Given the description of an element on the screen output the (x, y) to click on. 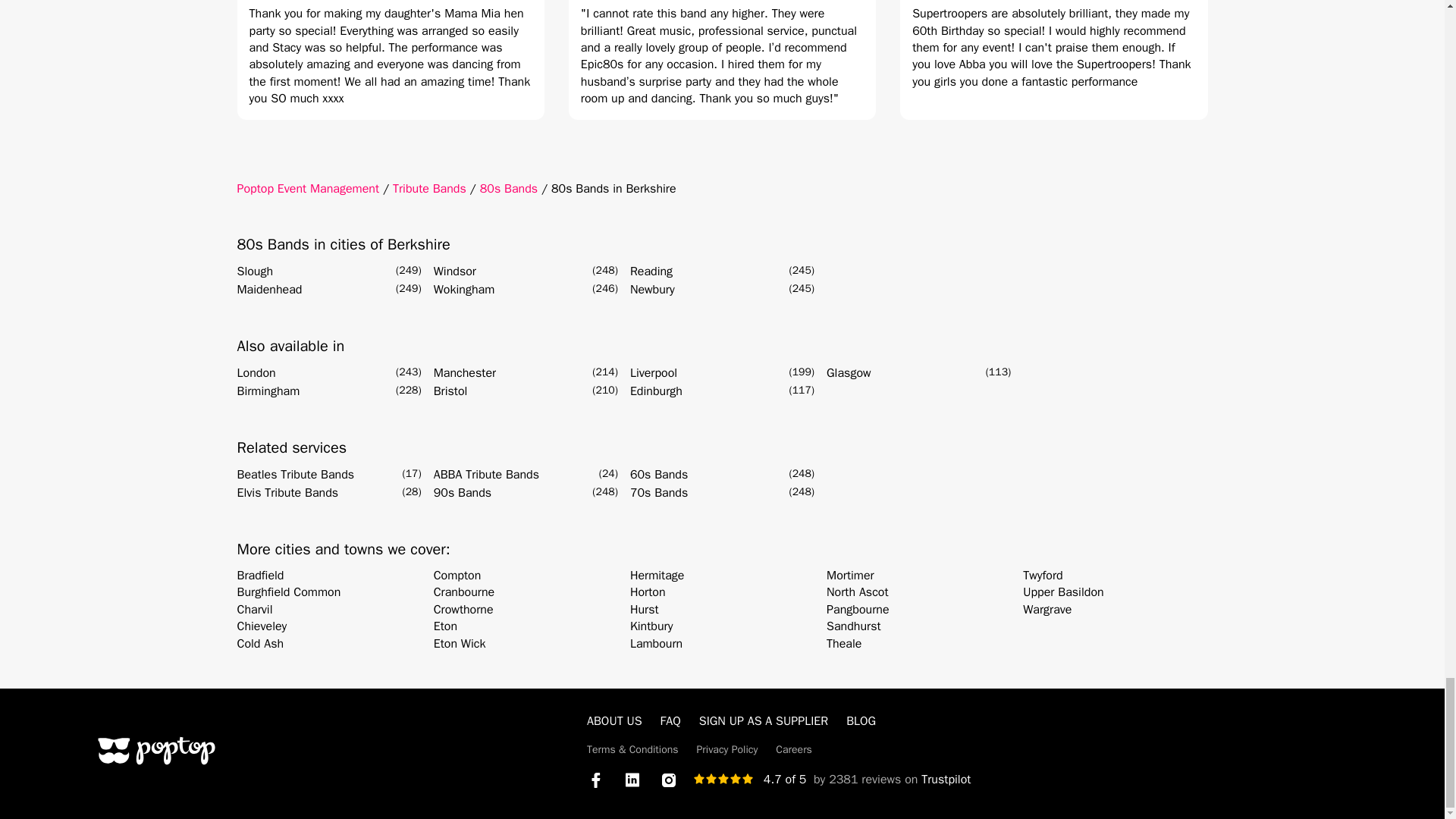
80s Bands (508, 188)
Reading (651, 271)
Manchester (464, 372)
Glasgow (848, 372)
Windsor (454, 271)
Liverpool (653, 372)
Bristol (450, 391)
Slough (254, 271)
Maidenhead (268, 289)
Birmingham (267, 391)
London (255, 372)
Poptop Event Management (306, 188)
Tribute Bands (429, 188)
Wokingham (464, 289)
Newbury (652, 289)
